Given the description of an element on the screen output the (x, y) to click on. 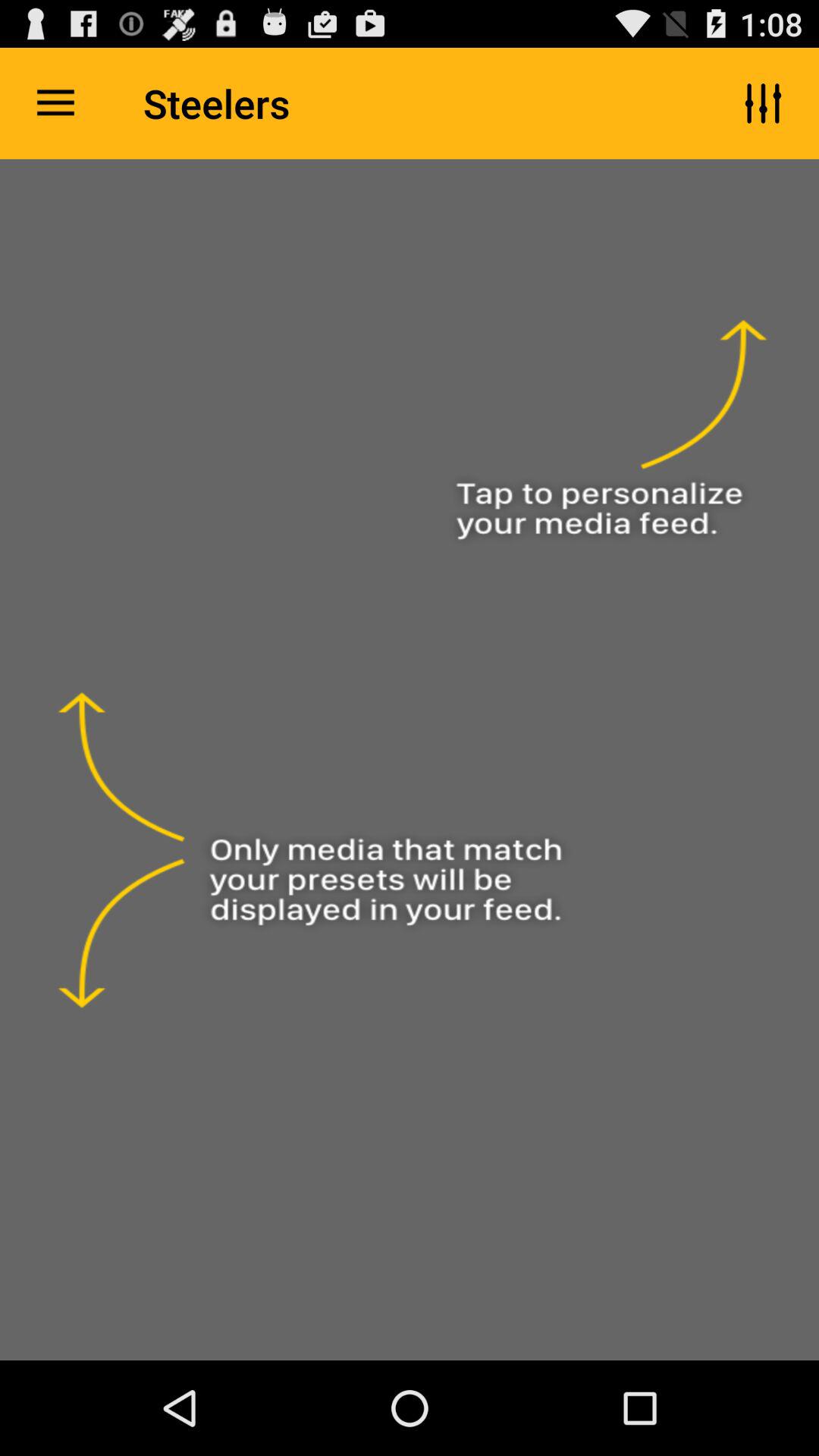
describe the functionality option (409, 759)
